Given the description of an element on the screen output the (x, y) to click on. 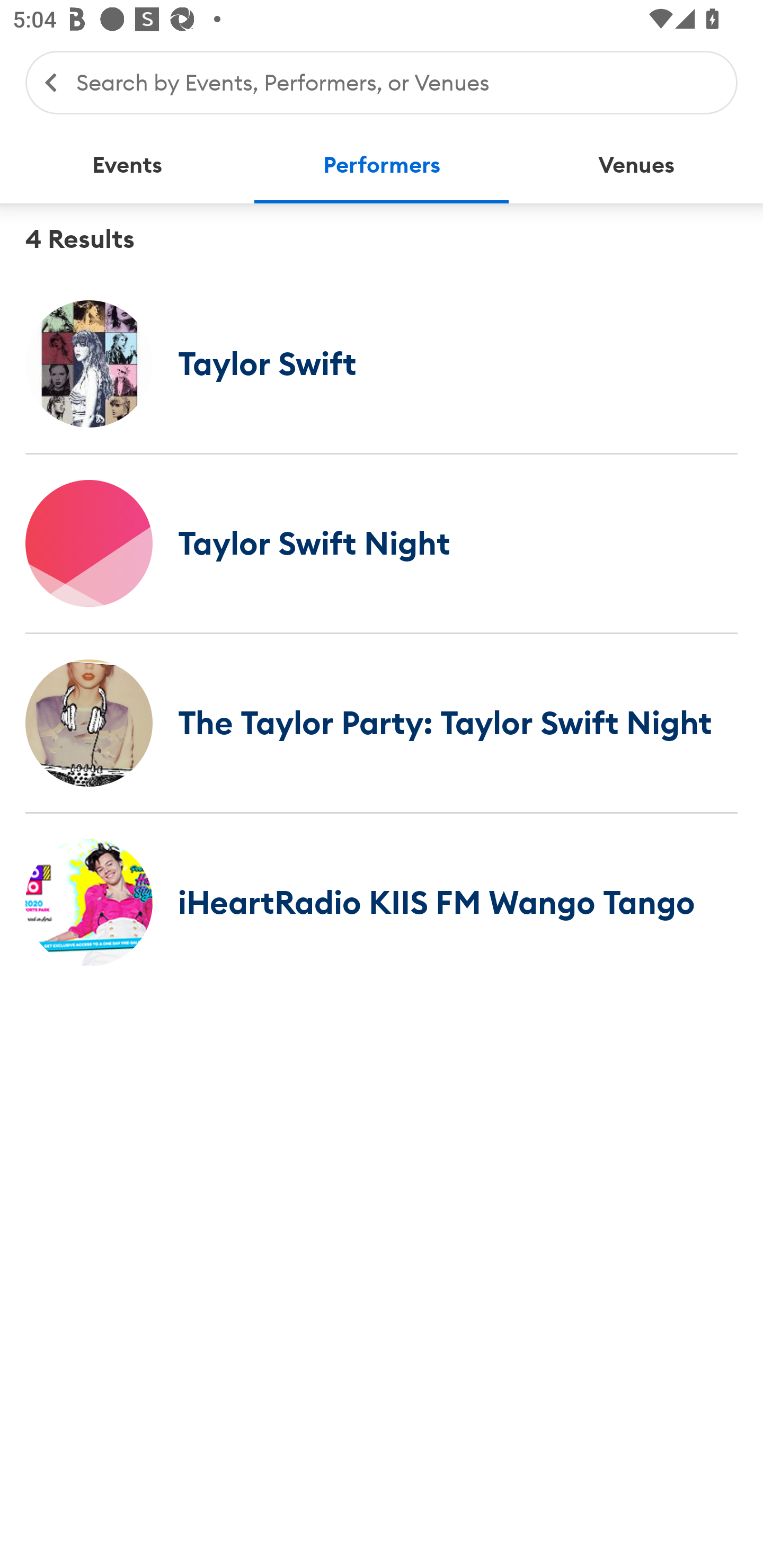
Events (127, 165)
Venues (635, 165)
Taylor Swift (381, 363)
Taylor Swift Night (381, 542)
The Taylor Party: Taylor Swift Night (381, 722)
iHeartRadio KIIS FM Wango Tango (381, 901)
